Given the description of an element on the screen output the (x, y) to click on. 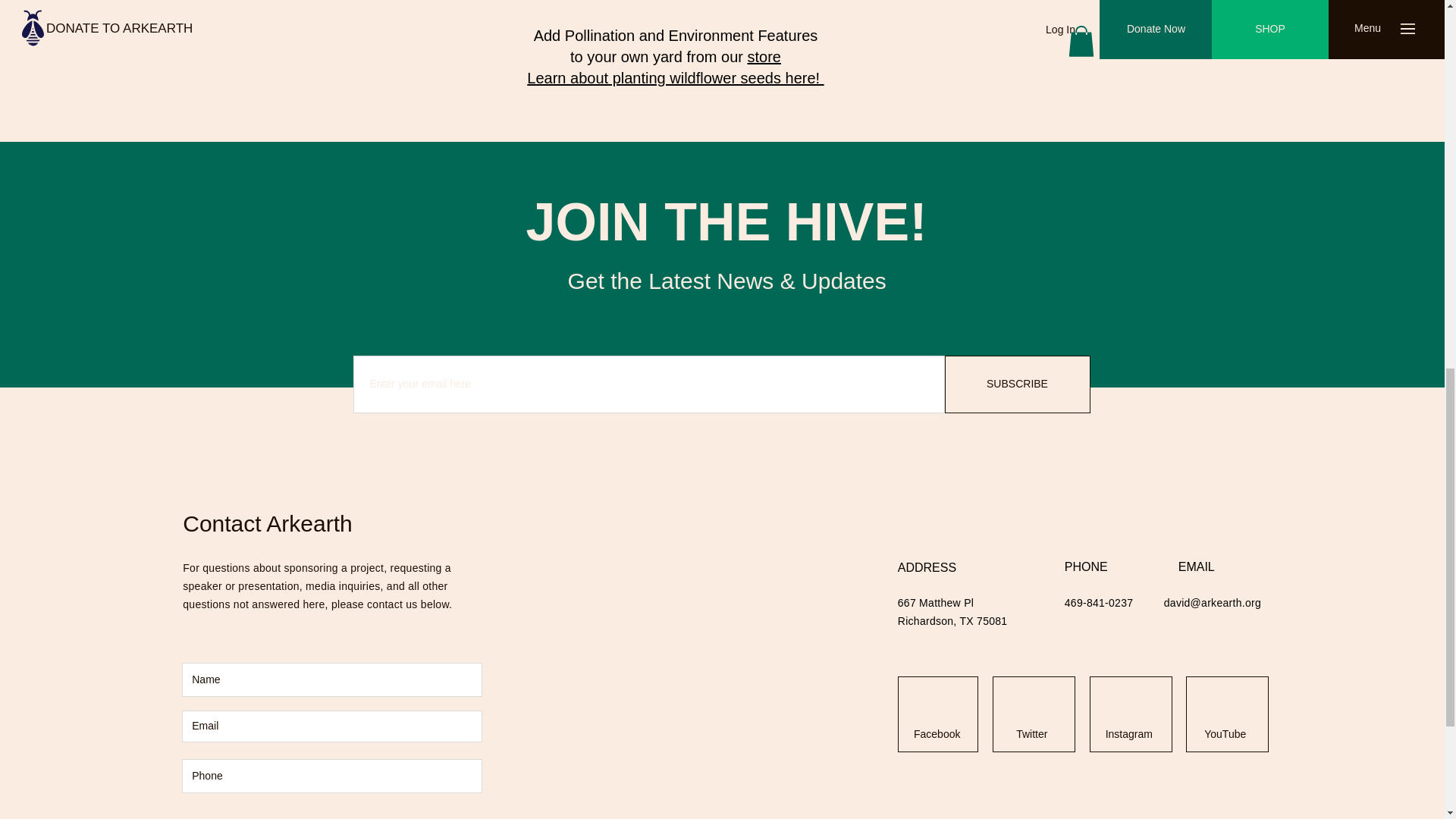
Instagram (1128, 734)
SUBMIT (460, 816)
YouTube (1224, 734)
Facebook (936, 734)
SUBSCRIBE (1017, 384)
Twitter (1031, 734)
